Given the description of an element on the screen output the (x, y) to click on. 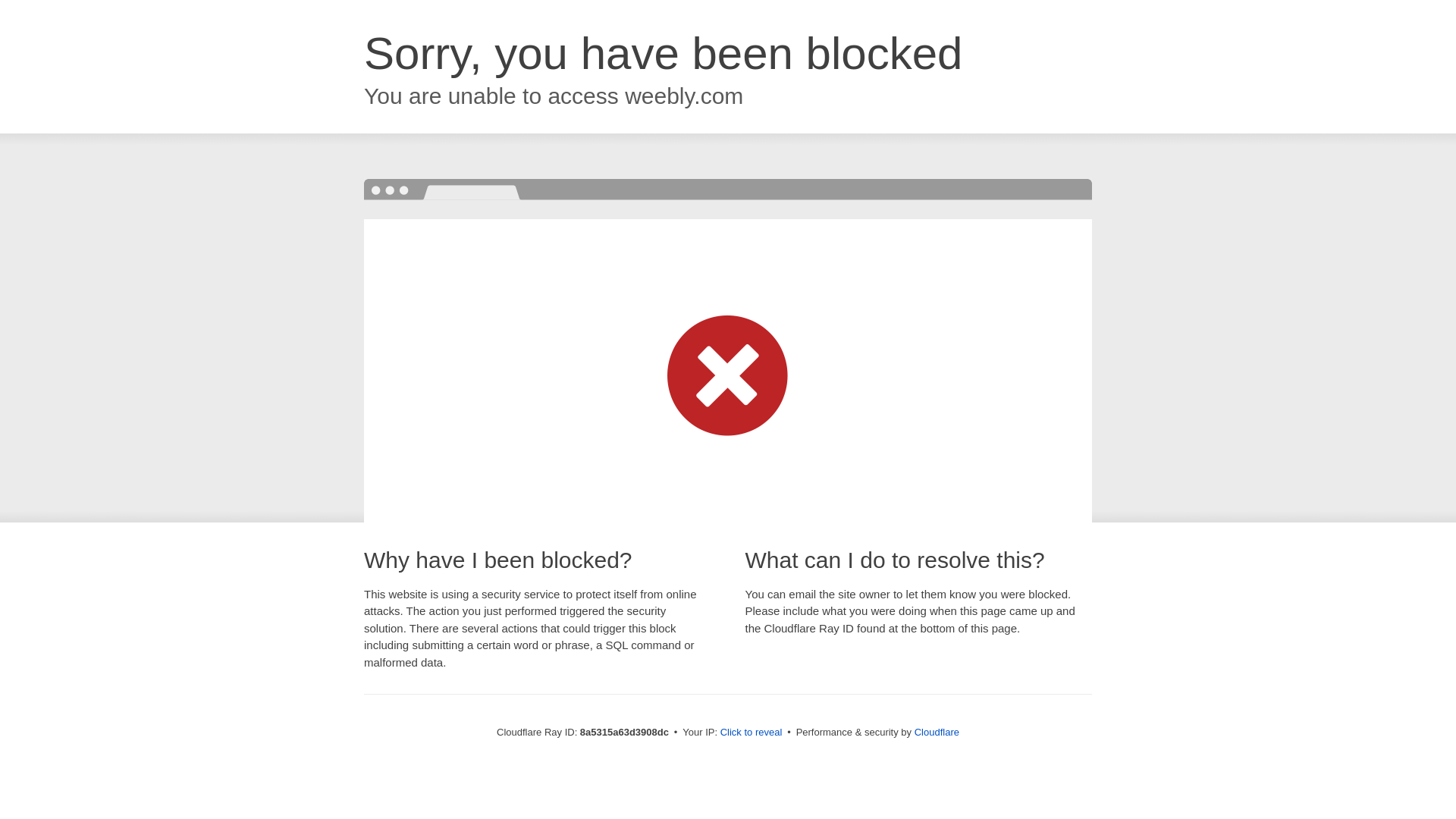
Click to reveal (751, 732)
Cloudflare (936, 731)
